Given the description of an element on the screen output the (x, y) to click on. 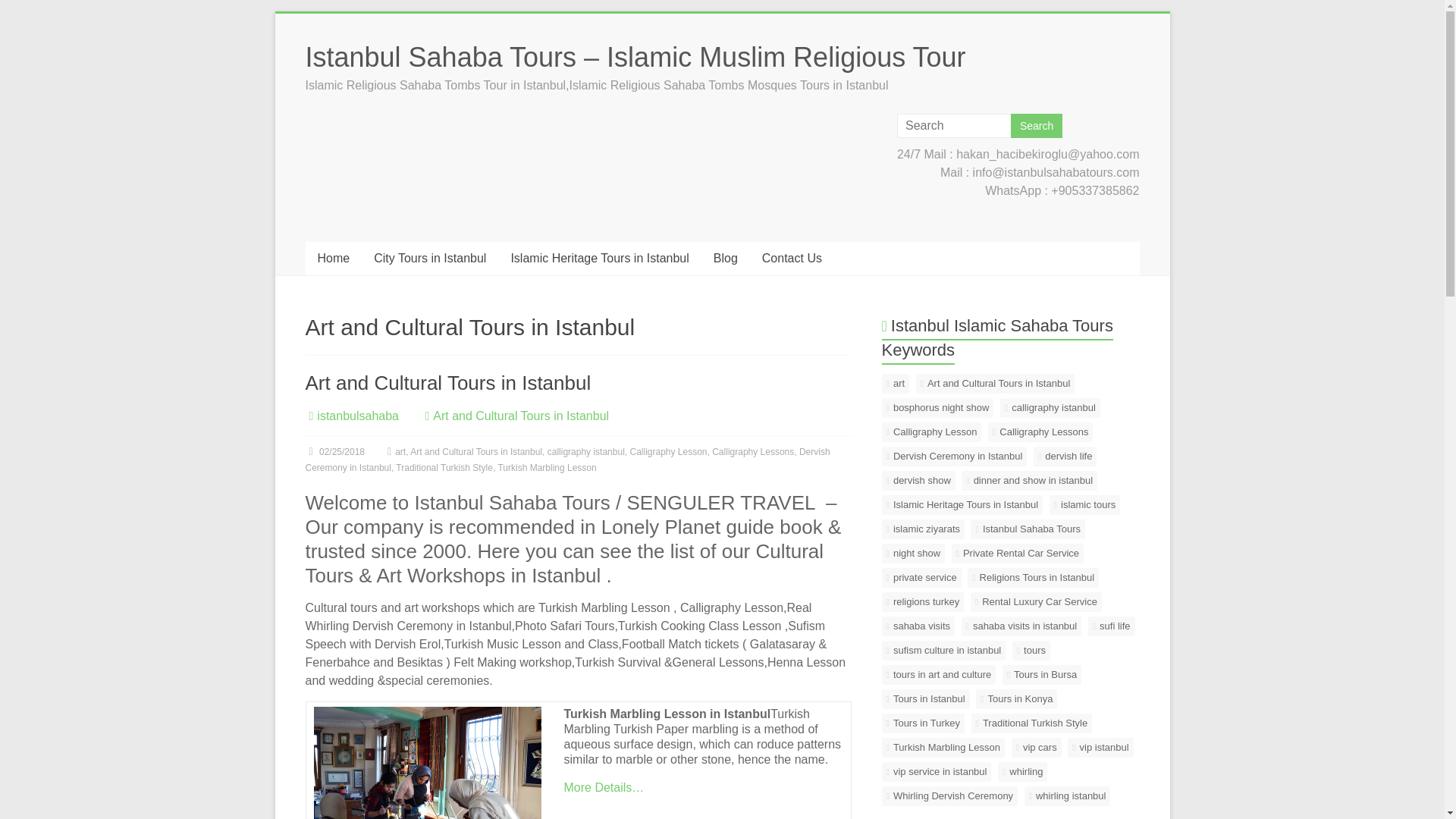
art (400, 451)
Islamic Heritage Tours in Istanbul (598, 258)
calligraphy istanbul (585, 451)
Calligraphy Lessons (752, 451)
istanbulsahaba (357, 415)
Traditional Turkish Style (444, 467)
Contact Us (791, 258)
14:45 (334, 451)
Home (332, 258)
